Given the description of an element on the screen output the (x, y) to click on. 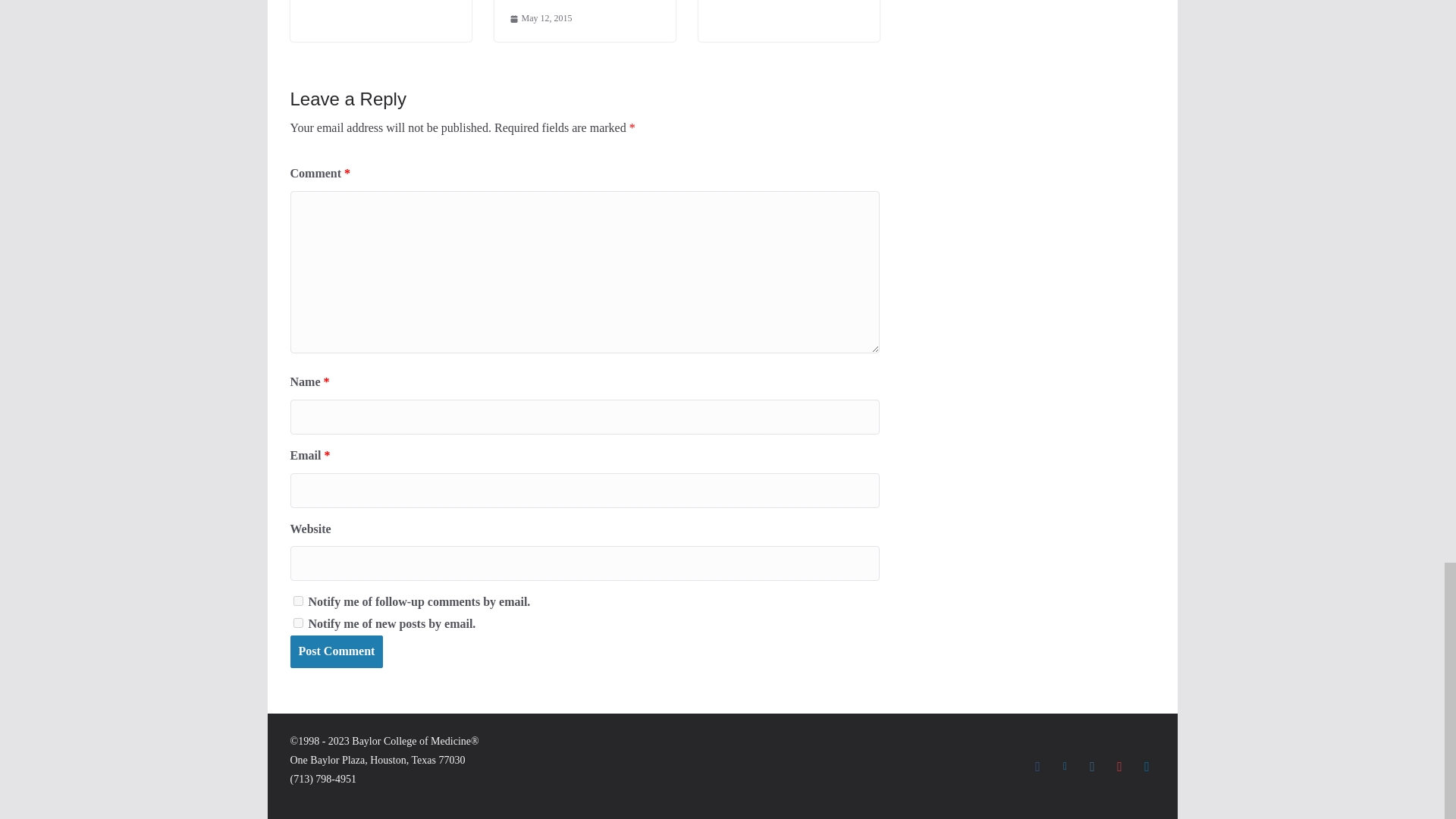
subscribe (297, 623)
subscribe (297, 601)
Post Comment (335, 651)
